Given the description of an element on the screen output the (x, y) to click on. 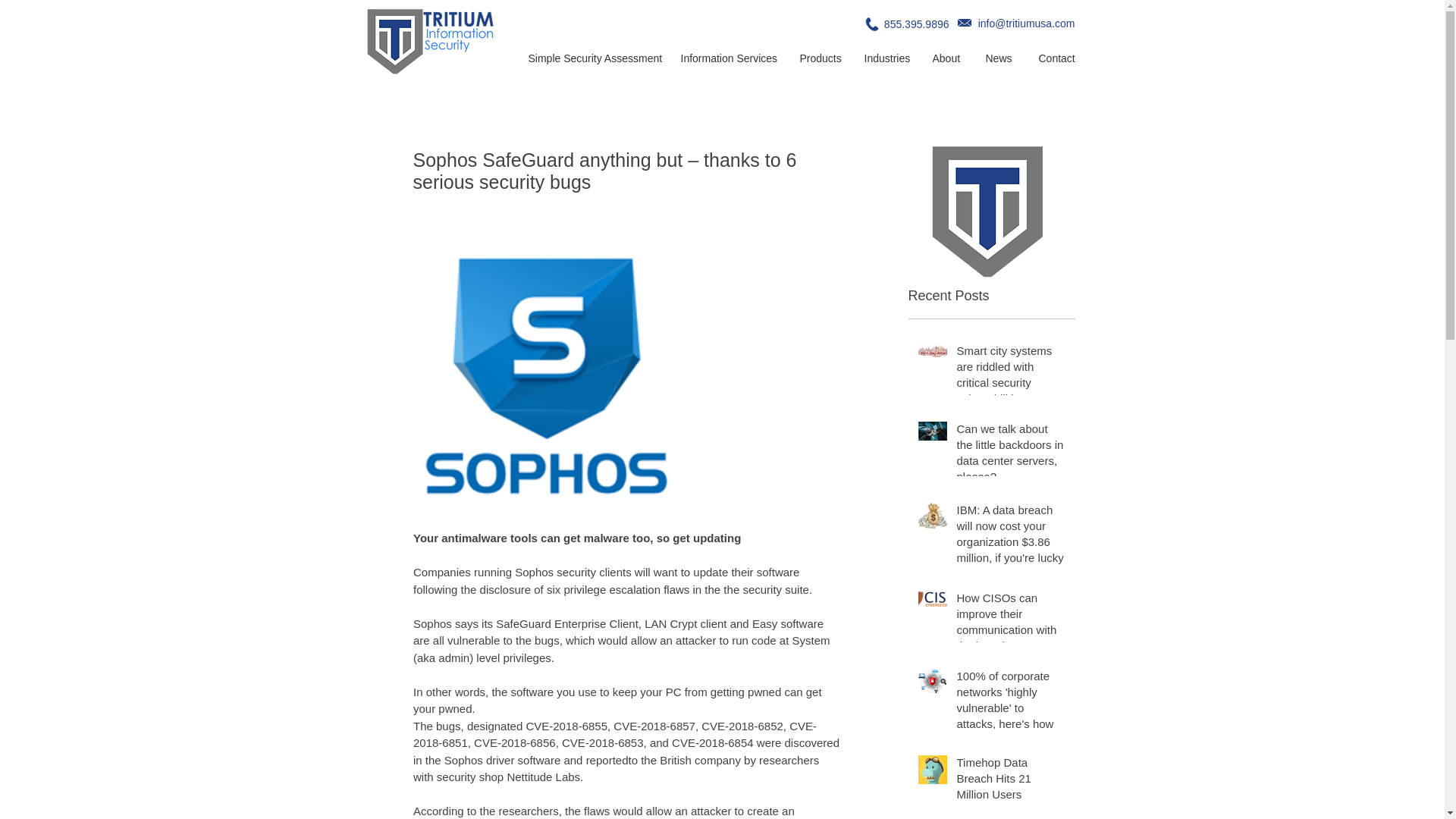
Timehop Data Breach Hits 21 Million Users (1010, 781)
Contact (1056, 58)
News (1000, 58)
About (947, 58)
Industries (885, 58)
How CISOs can improve their communication with the board (1010, 624)
Simple Security Assessment (592, 58)
